Given the description of an element on the screen output the (x, y) to click on. 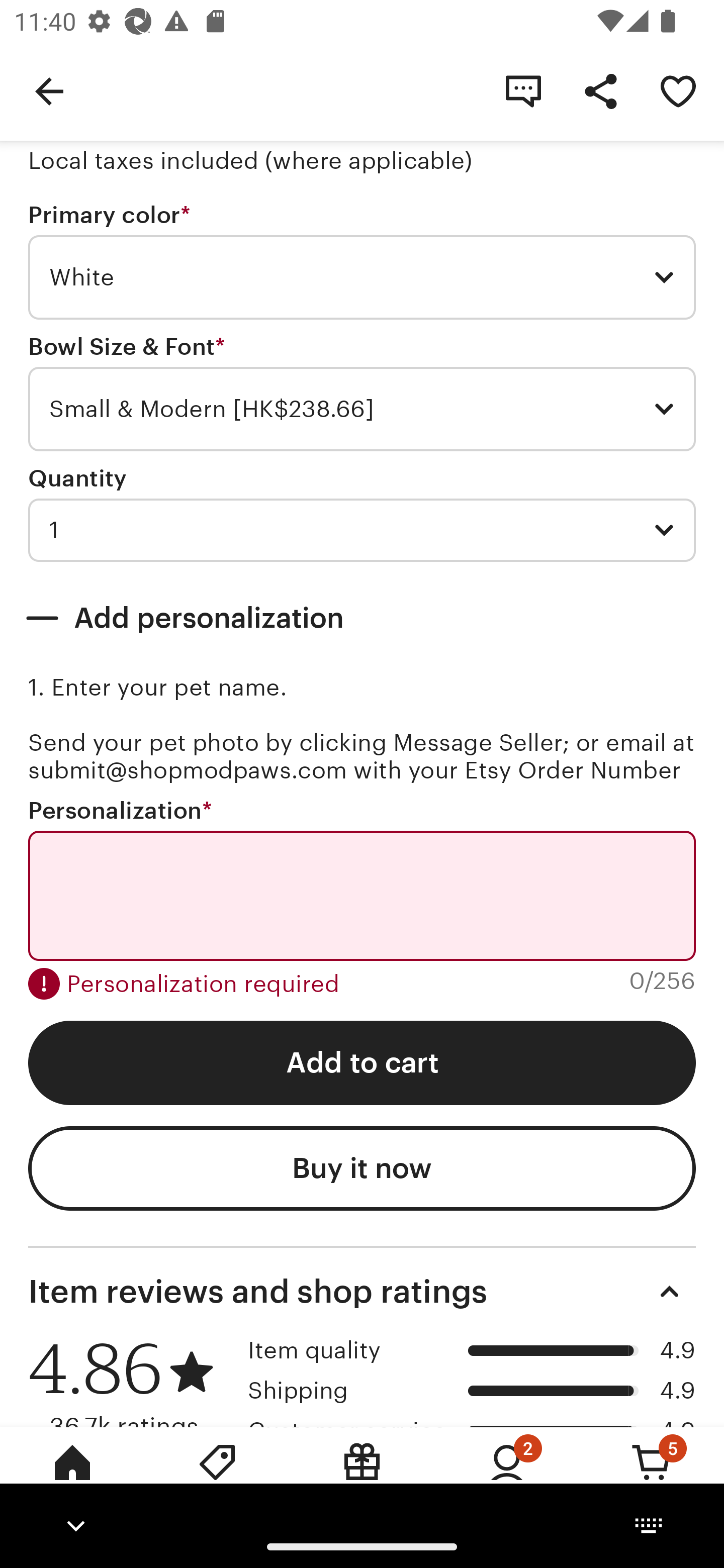
Navigate up (49, 90)
Contact shop (523, 90)
Share (600, 90)
Primary color * Required White (361, 260)
White (361, 277)
Small & Modern [HK$238.66] (361, 408)
Quantity (77, 477)
1 (361, 529)
Add personalization Add personalization Required (362, 617)
Add to cart (361, 1062)
Buy it now (361, 1167)
Item reviews and shop ratings (362, 1291)
Deals (216, 1475)
Gift Mode (361, 1475)
You, 2 new notifications (506, 1475)
Cart, 5 new notifications (651, 1475)
